Given the description of an element on the screen output the (x, y) to click on. 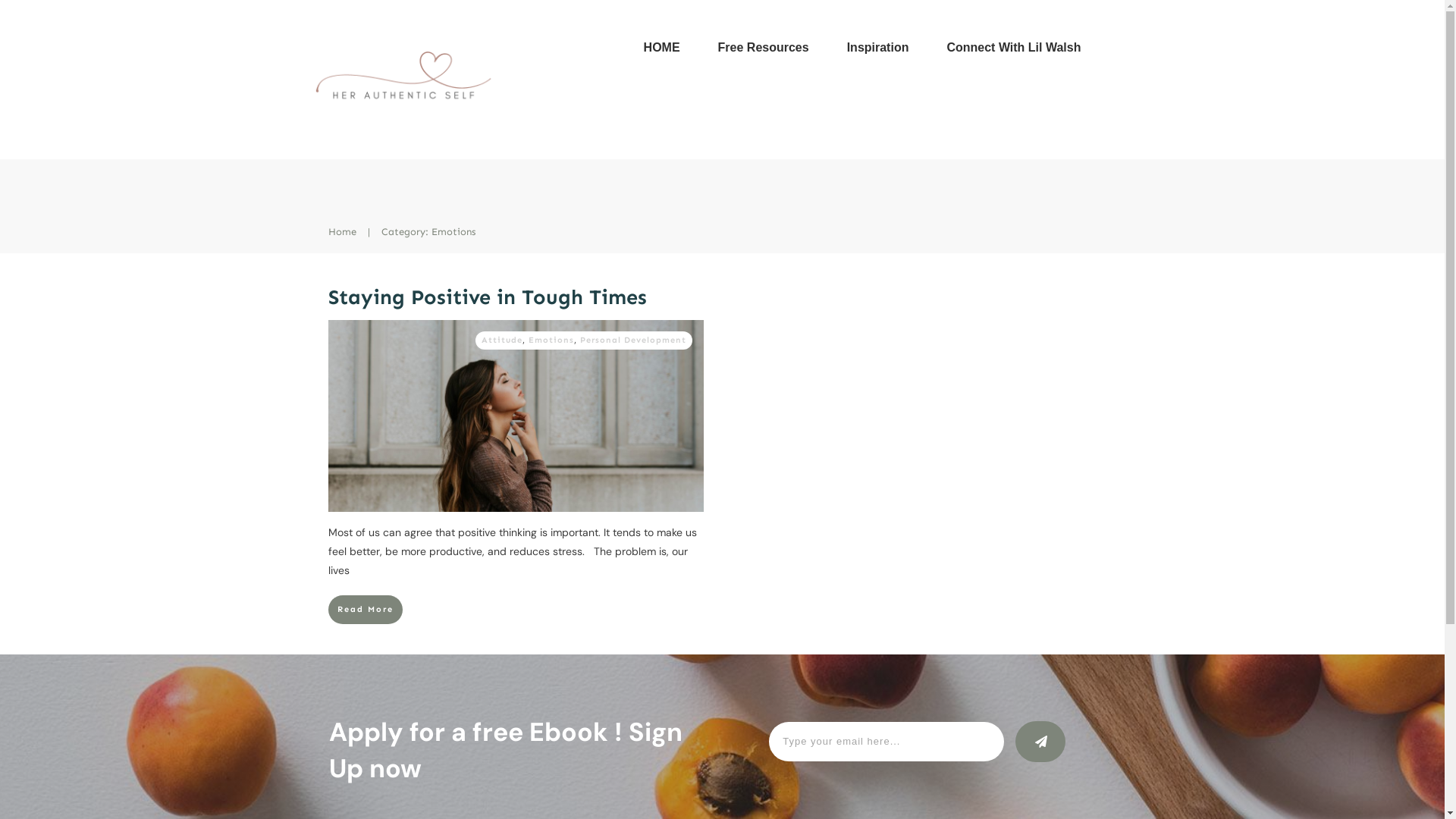
Emotions Element type: text (550, 340)
Staying Positive in Tough Times Element type: text (486, 297)
Attitude Element type: text (500, 340)
Home Element type: text (341, 231)
Connect With Lil Walsh Element type: text (1013, 47)
Read More Element type: text (364, 609)
Inspiration Element type: text (878, 47)
HOME Element type: text (661, 47)
Personal Development Element type: text (632, 340)
Free Resources Element type: text (763, 47)
